Given the description of an element on the screen output the (x, y) to click on. 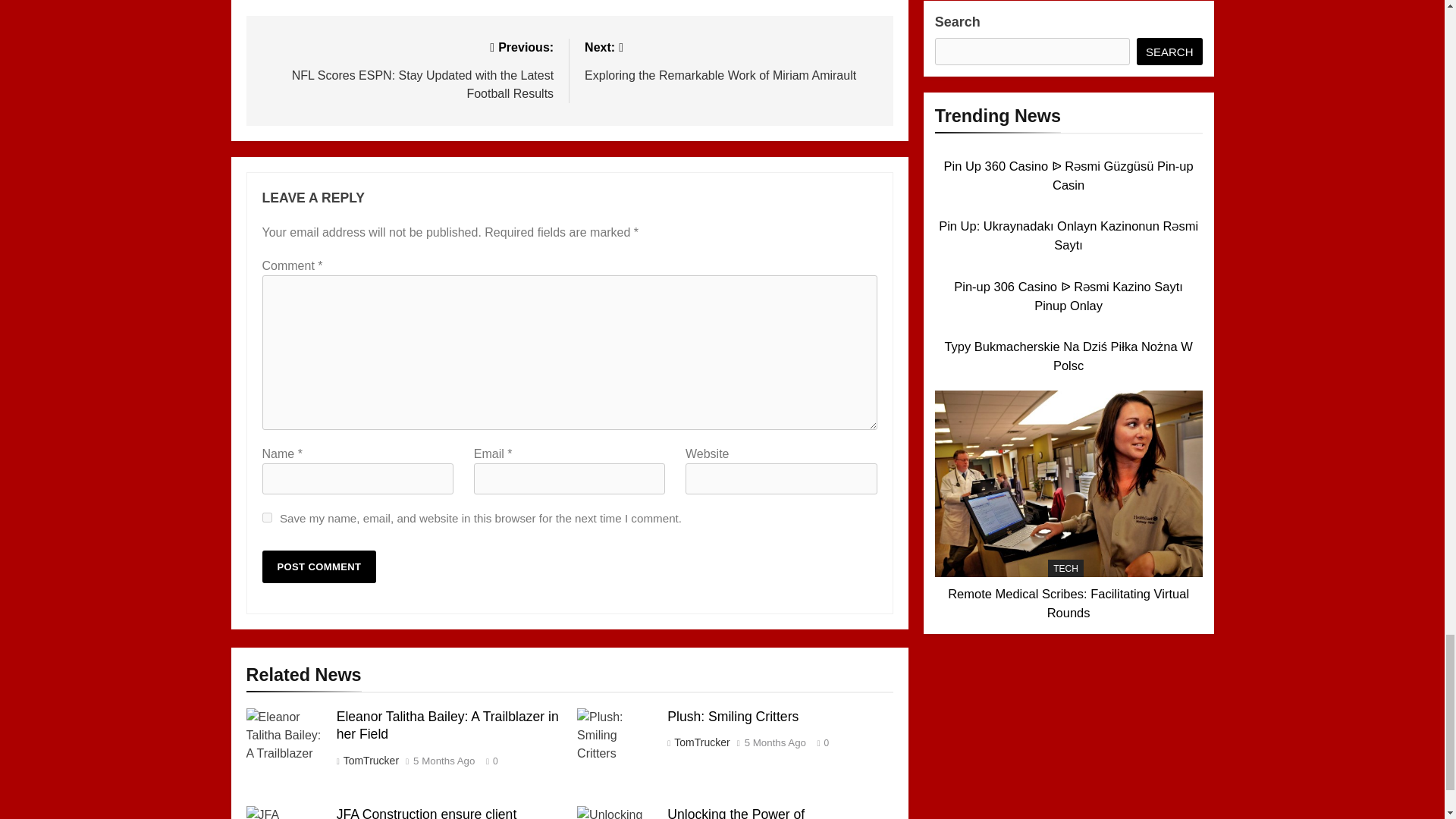
Post Comment (319, 566)
yes (267, 517)
Post Comment (731, 59)
